Given the description of an element on the screen output the (x, y) to click on. 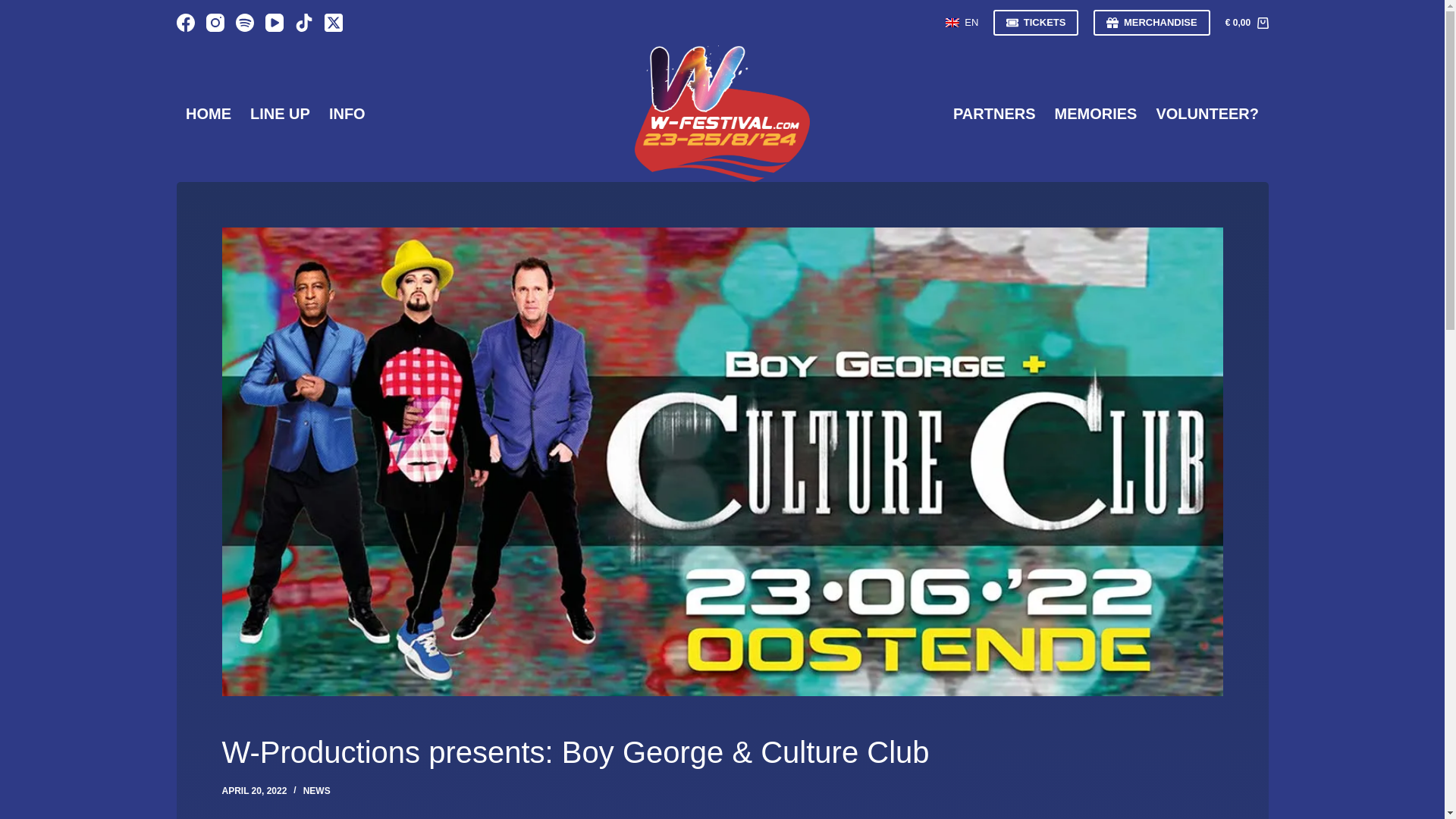
INFO (346, 113)
HOME (208, 113)
TICKETS (1035, 22)
LINE UP (280, 113)
VOLUNTEER? (1207, 113)
PARTNERS (994, 113)
MEMORIES (1096, 113)
Skip to content (15, 7)
MERCHANDISE (1151, 22)
